Given the description of an element on the screen output the (x, y) to click on. 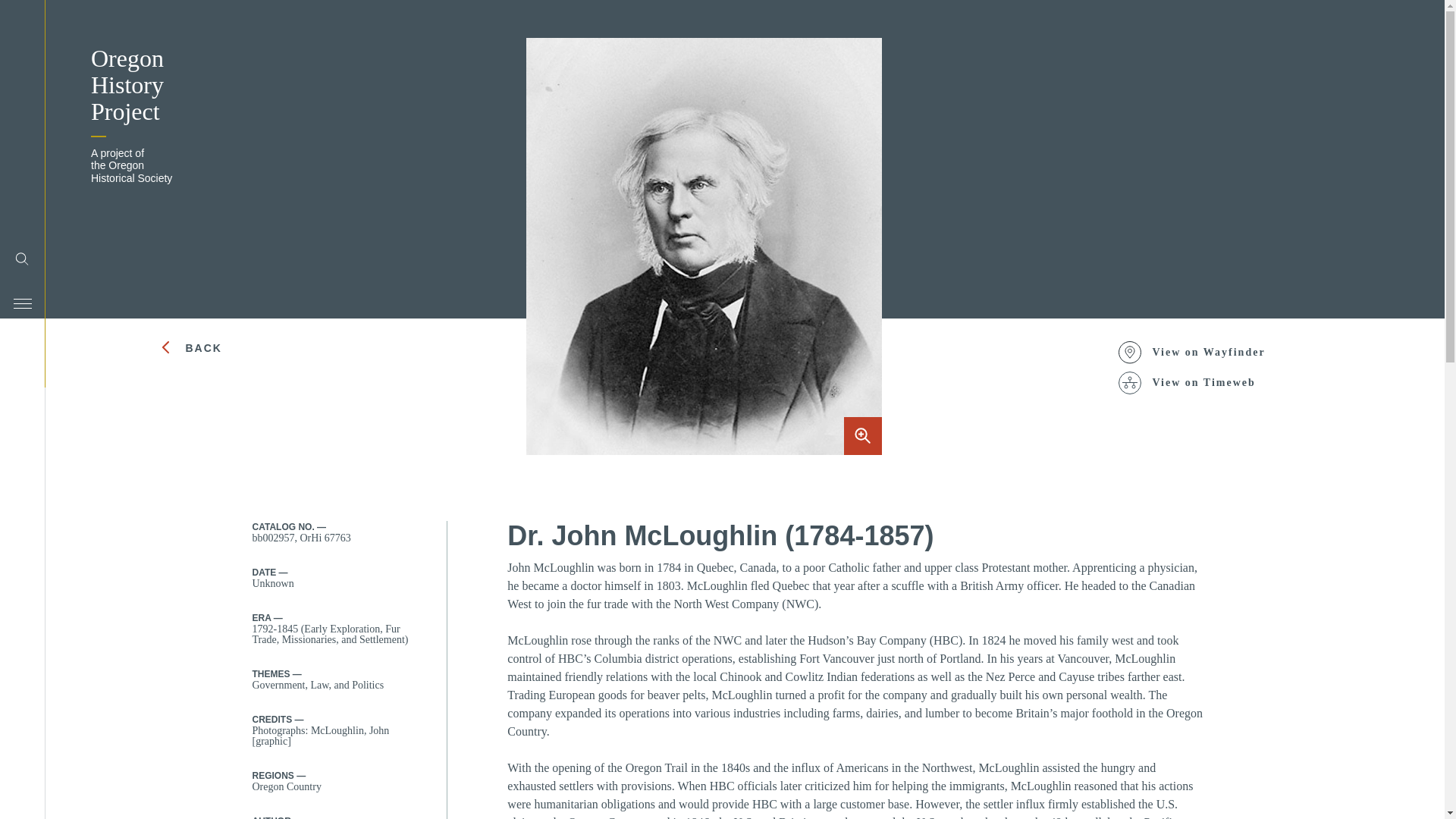
View on Wayfinder (1200, 352)
BACK (224, 347)
View on Timeweb (1200, 382)
